Given the description of an element on the screen output the (x, y) to click on. 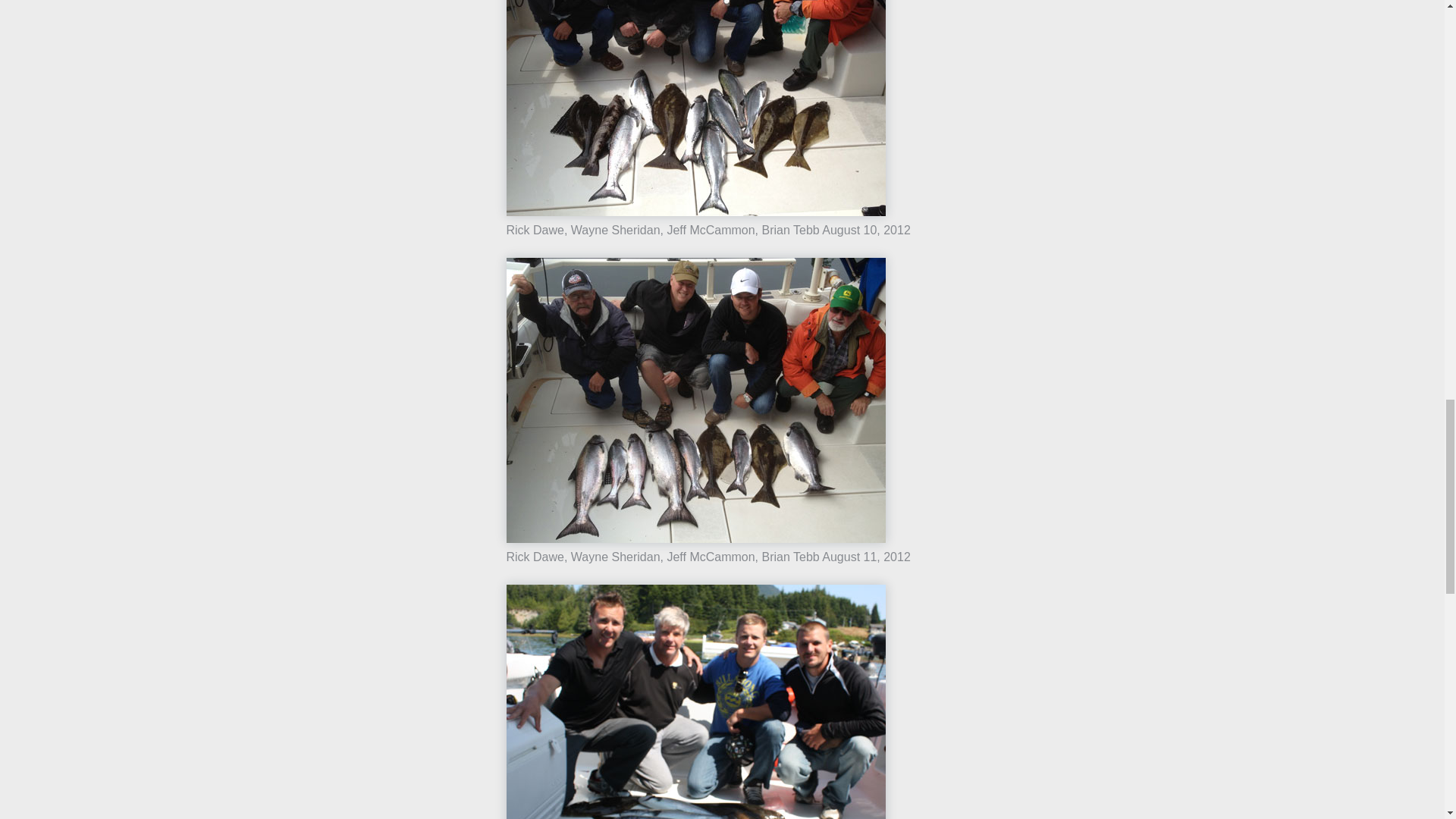
August12Jackson (695, 701)
August11Dawe (695, 399)
August10Dawe (695, 108)
